Given the description of an element on the screen output the (x, y) to click on. 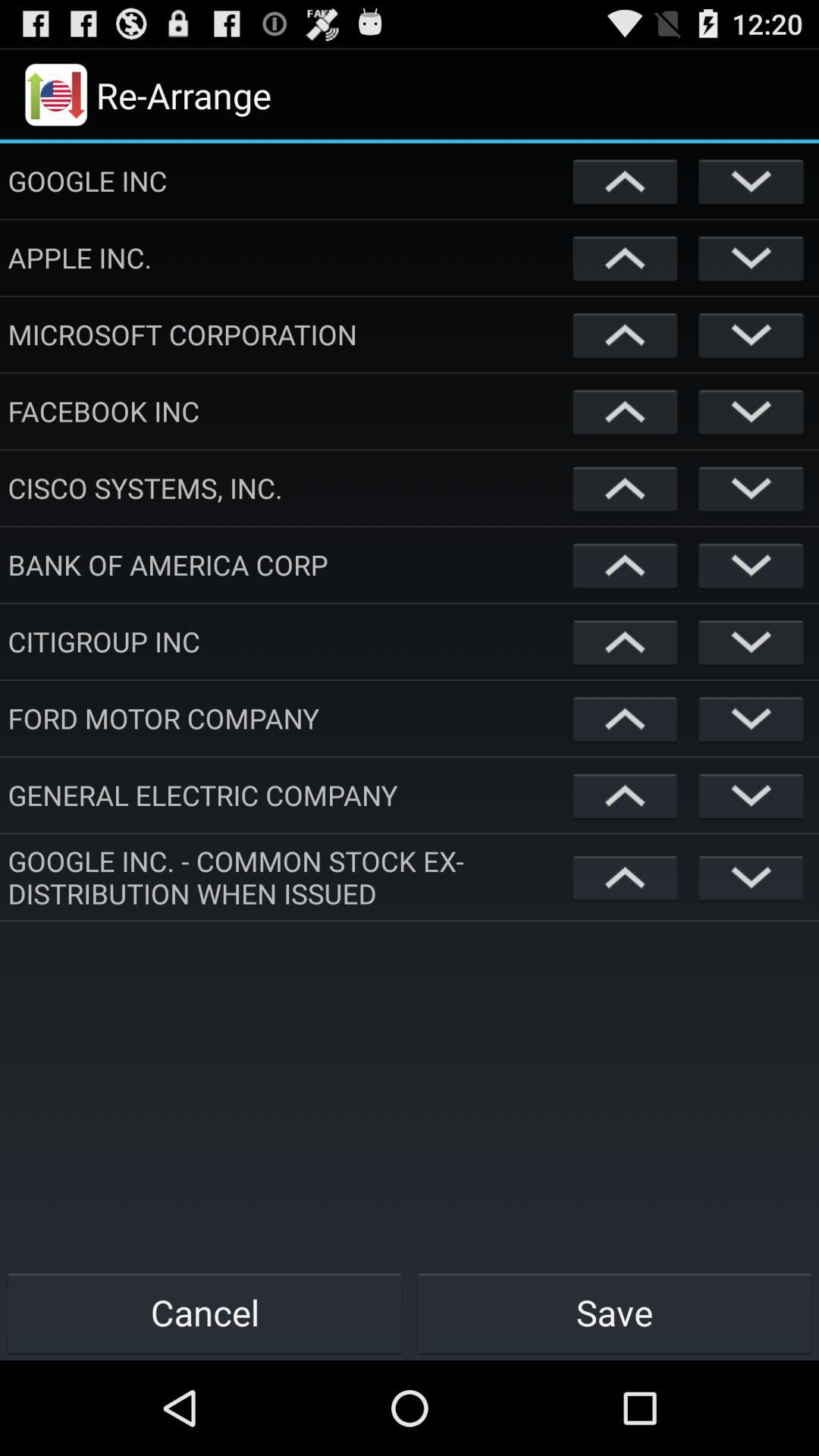
change order to higher priority (624, 718)
